Given the description of an element on the screen output the (x, y) to click on. 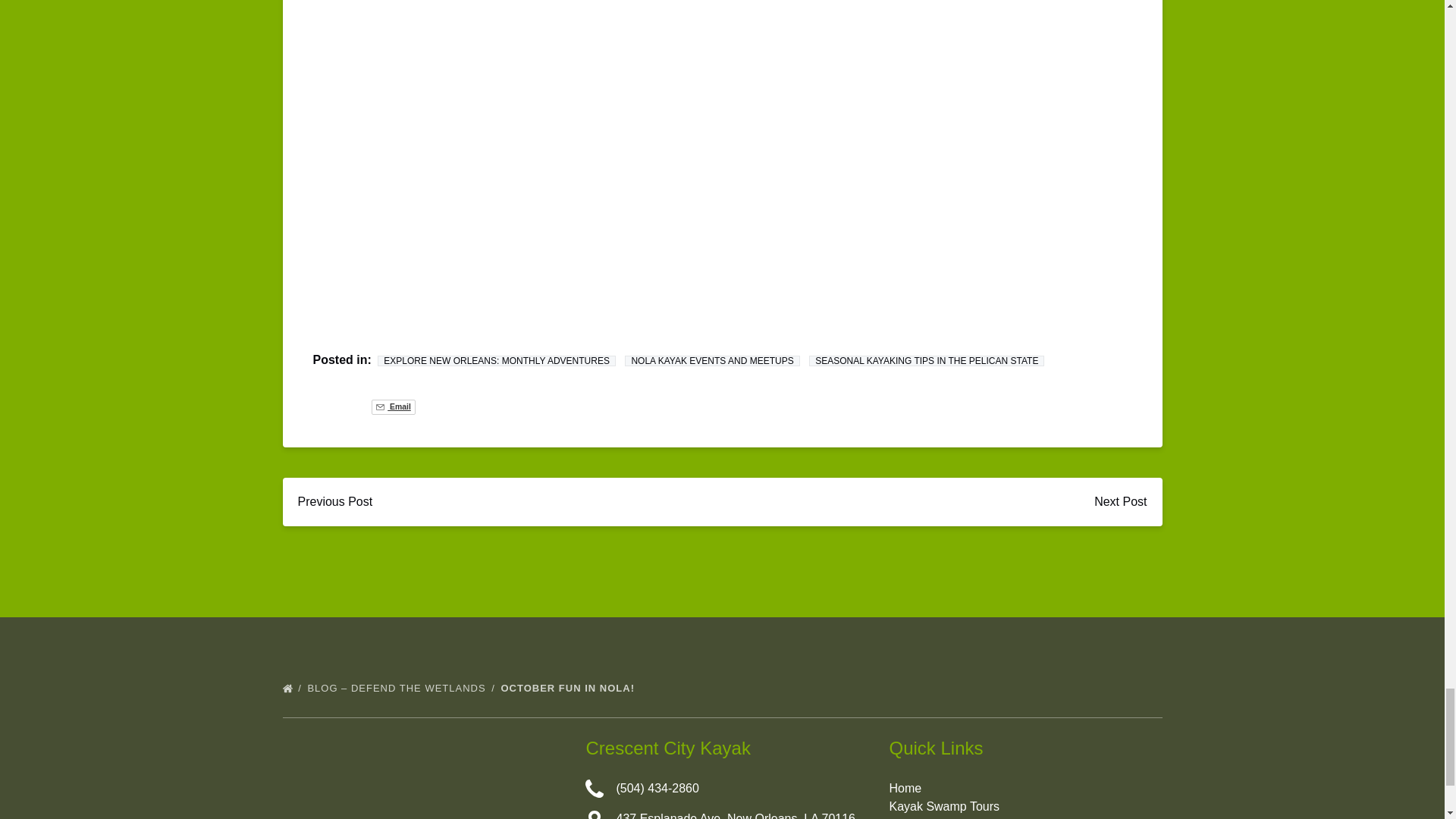
SEASONAL KAYAKING TIPS IN THE PELICAN STATE (926, 360)
EXPLORE NEW ORLEANS: MONTHLY ADVENTURES (496, 360)
Map Marker (594, 814)
Previous Post (334, 501)
NOLA KAYAK EVENTS AND MEETUPS (711, 360)
Next Post (1119, 501)
Email (392, 406)
Phone (594, 788)
